Given the description of an element on the screen output the (x, y) to click on. 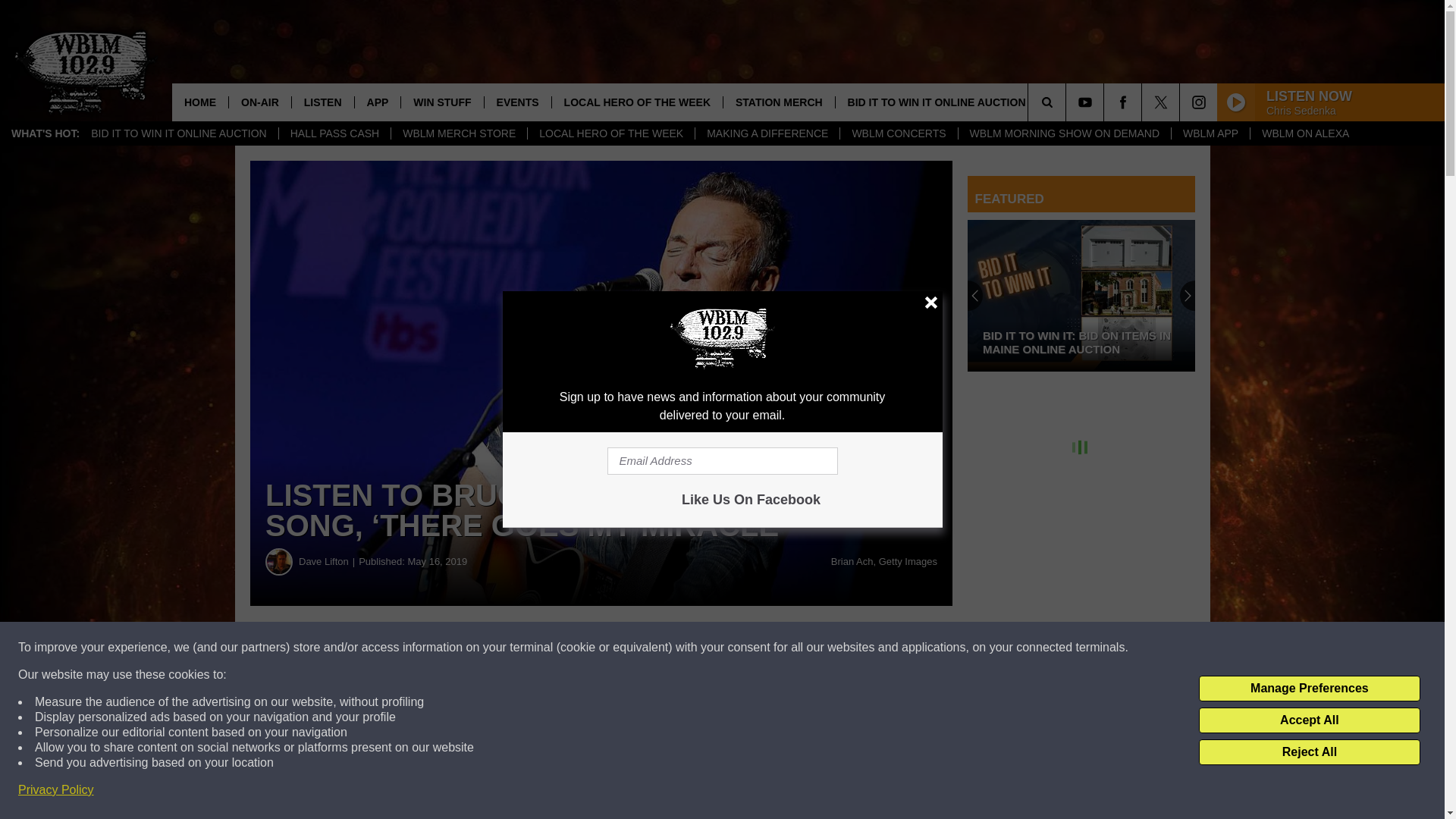
WBLM MORNING SHOW ON DEMAND (1064, 133)
WBLM CONCERTS (898, 133)
MAKING A DIFFERENCE (767, 133)
HALL PASS CASH (334, 133)
SEARCH (1068, 102)
WBLM MERCH STORE (458, 133)
LISTEN (322, 102)
Accept All (1309, 720)
SEARCH (1068, 102)
WBLM APP (1209, 133)
WIN STUFF (441, 102)
Reject All (1309, 751)
APP (377, 102)
BID IT TO WIN IT ONLINE AUCTION (179, 133)
Privacy Policy (55, 789)
